Given the description of an element on the screen output the (x, y) to click on. 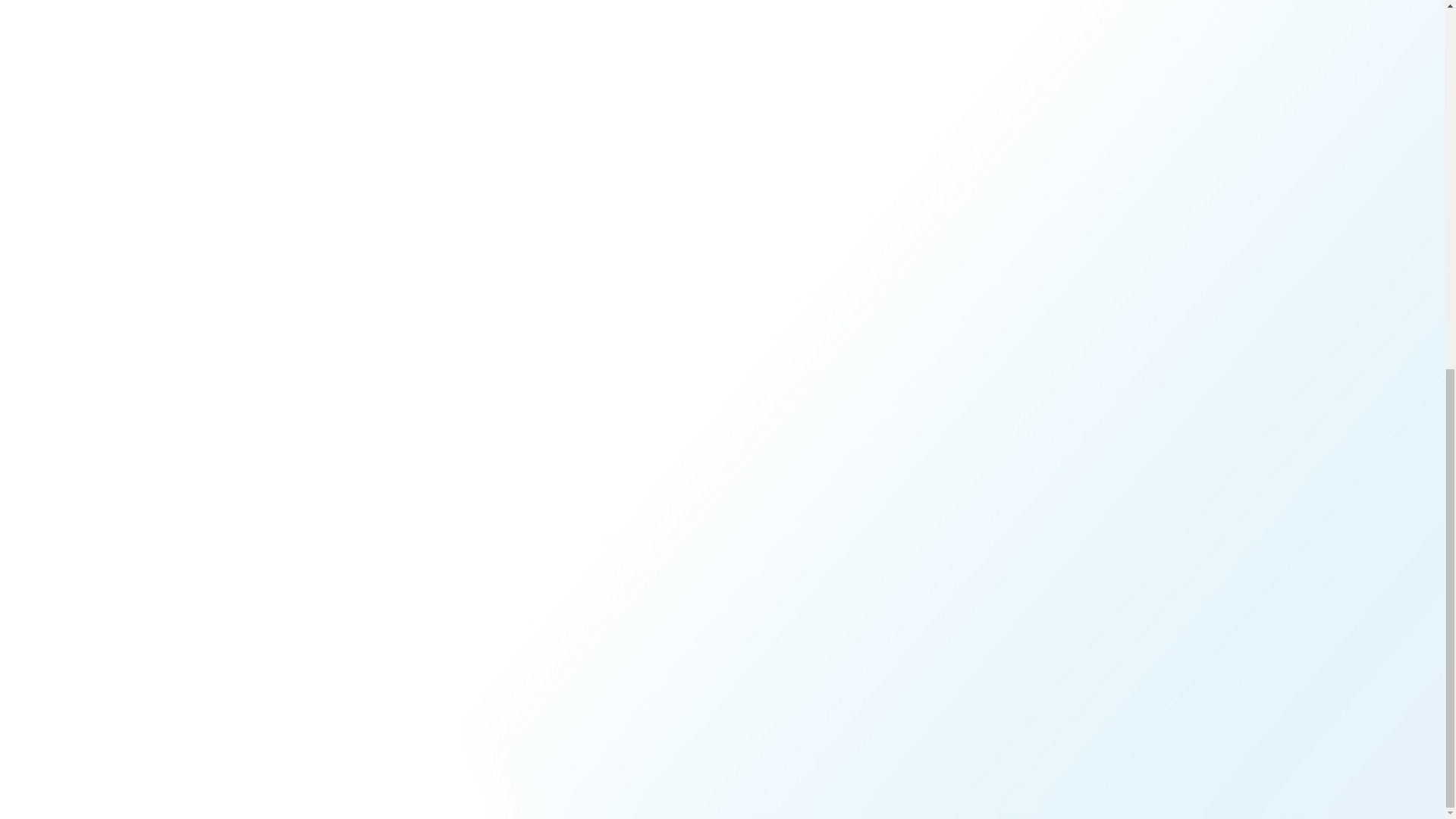
Fiduciary (748, 494)
Our core essence (656, 468)
Insights (853, 468)
Technology (753, 468)
Newsroom (860, 494)
Contact us (983, 494)
Our people (984, 468)
Our locations (648, 494)
Credit (740, 520)
Videos (851, 520)
